Given the description of an element on the screen output the (x, y) to click on. 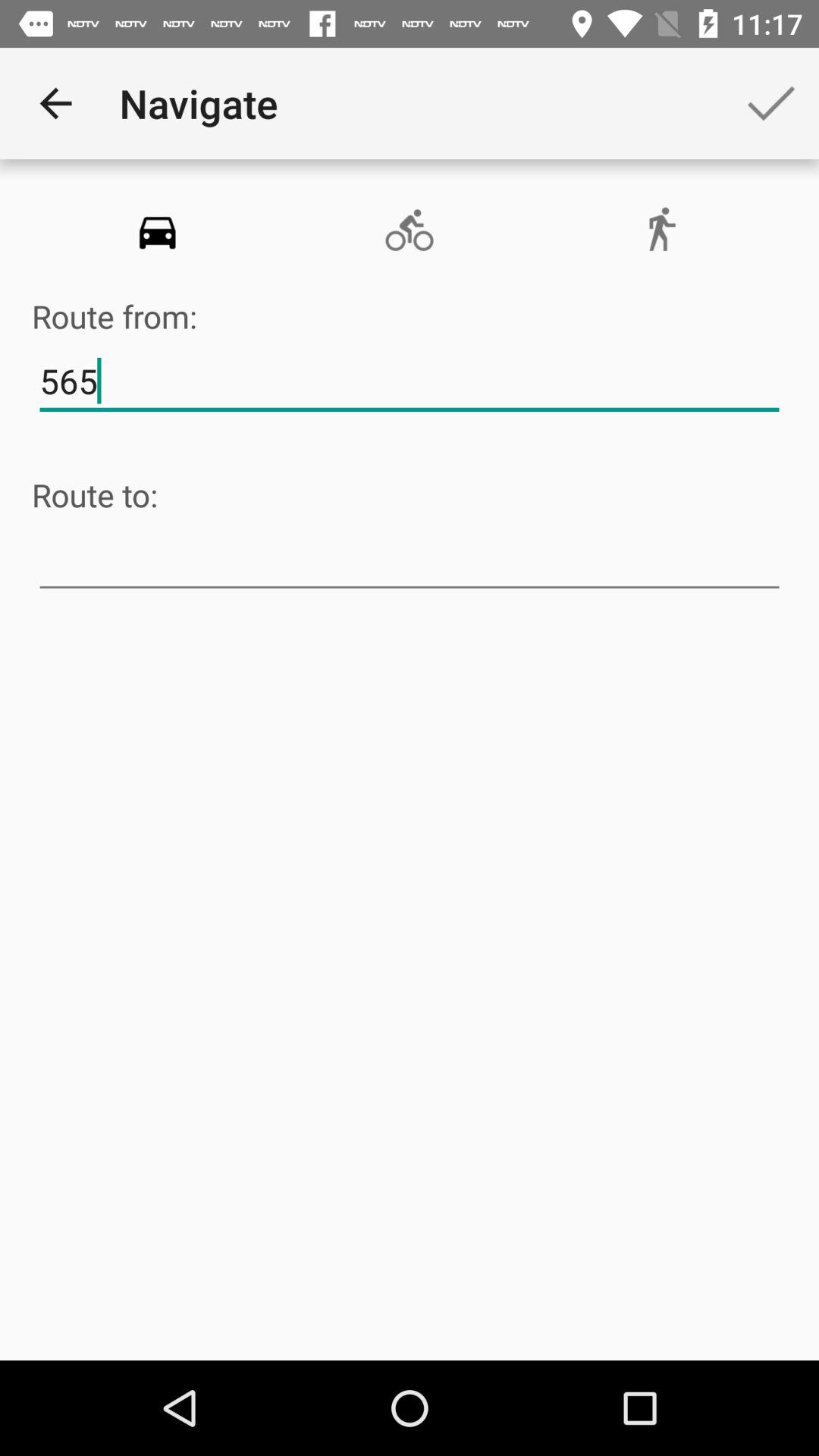
turn on the app to the right of navigate app (771, 103)
